Given the description of an element on the screen output the (x, y) to click on. 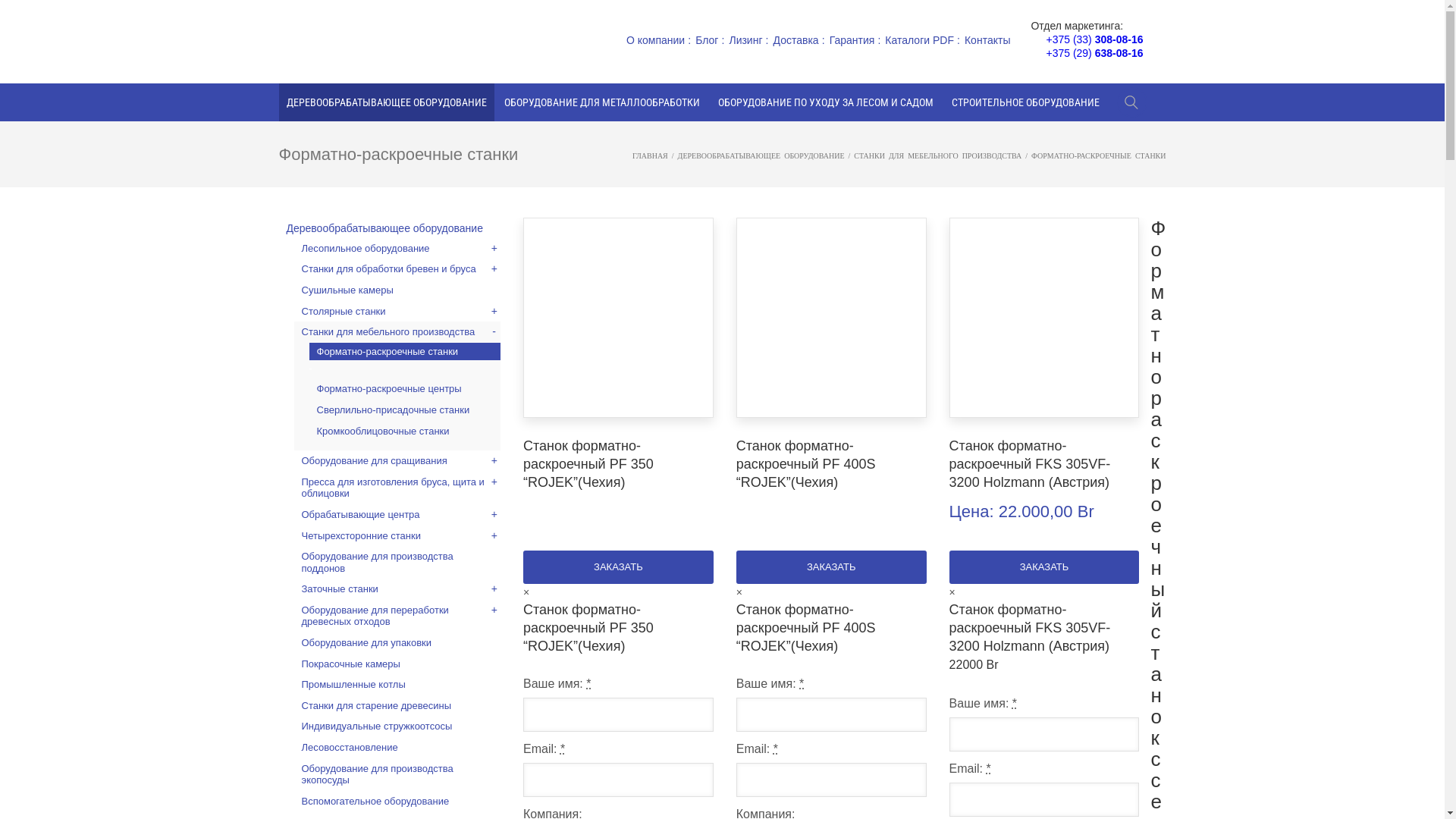
+375 (29) 638-08-16 Element type: text (1093, 53)
+375 (33) 308-08-16 Element type: text (1093, 39)
